Given the description of an element on the screen output the (x, y) to click on. 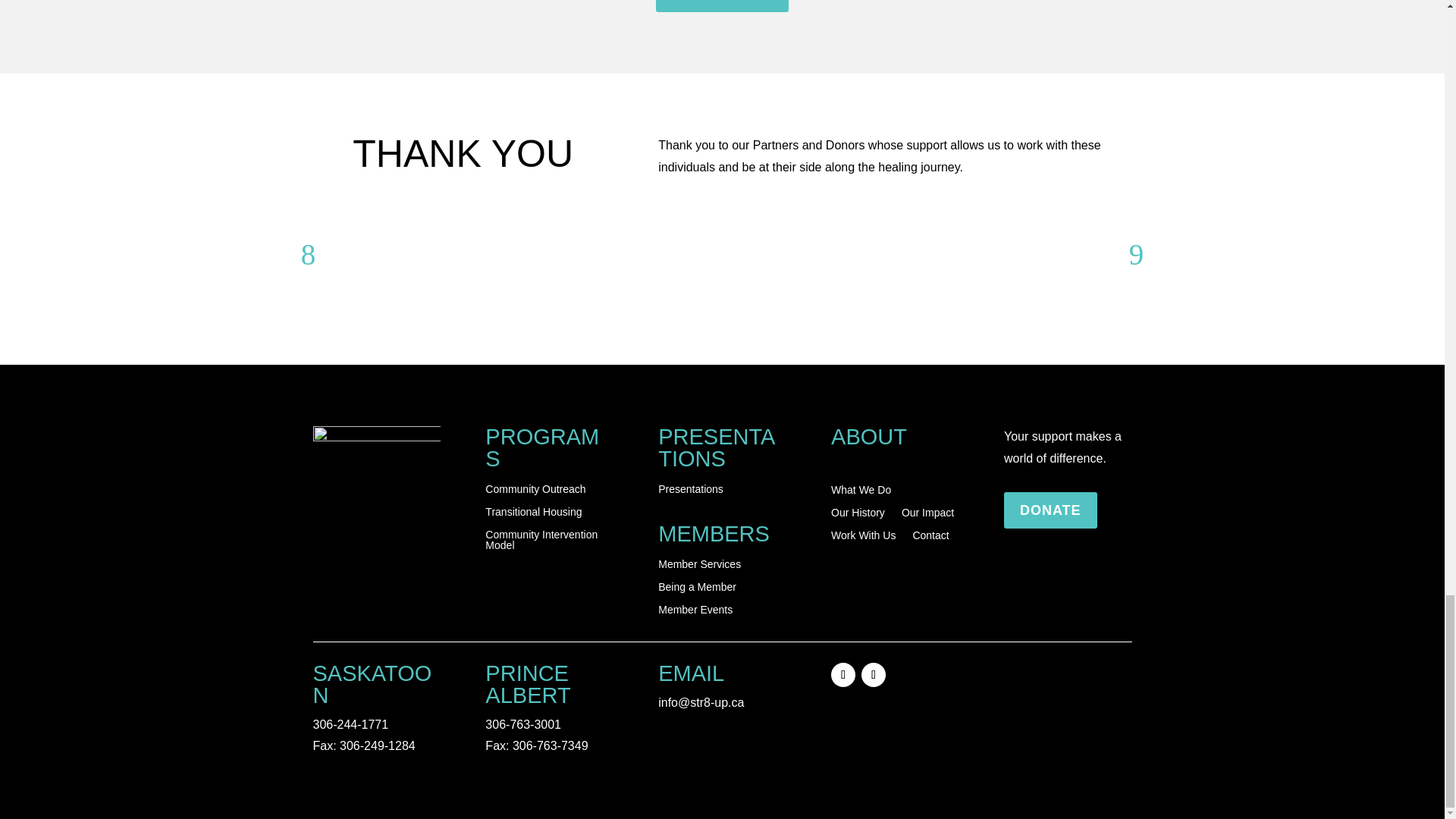
Member Services (699, 566)
Stacked-Str8Up-Logo-White (376, 474)
Follow on Instagram (873, 674)
Presentations (690, 492)
Community Intervention Model (548, 542)
Being a Member (697, 589)
DONATE NOW (722, 6)
Community Outreach (534, 492)
Transitional Housing (532, 514)
Follow on Facebook (843, 674)
